Given the description of an element on the screen output the (x, y) to click on. 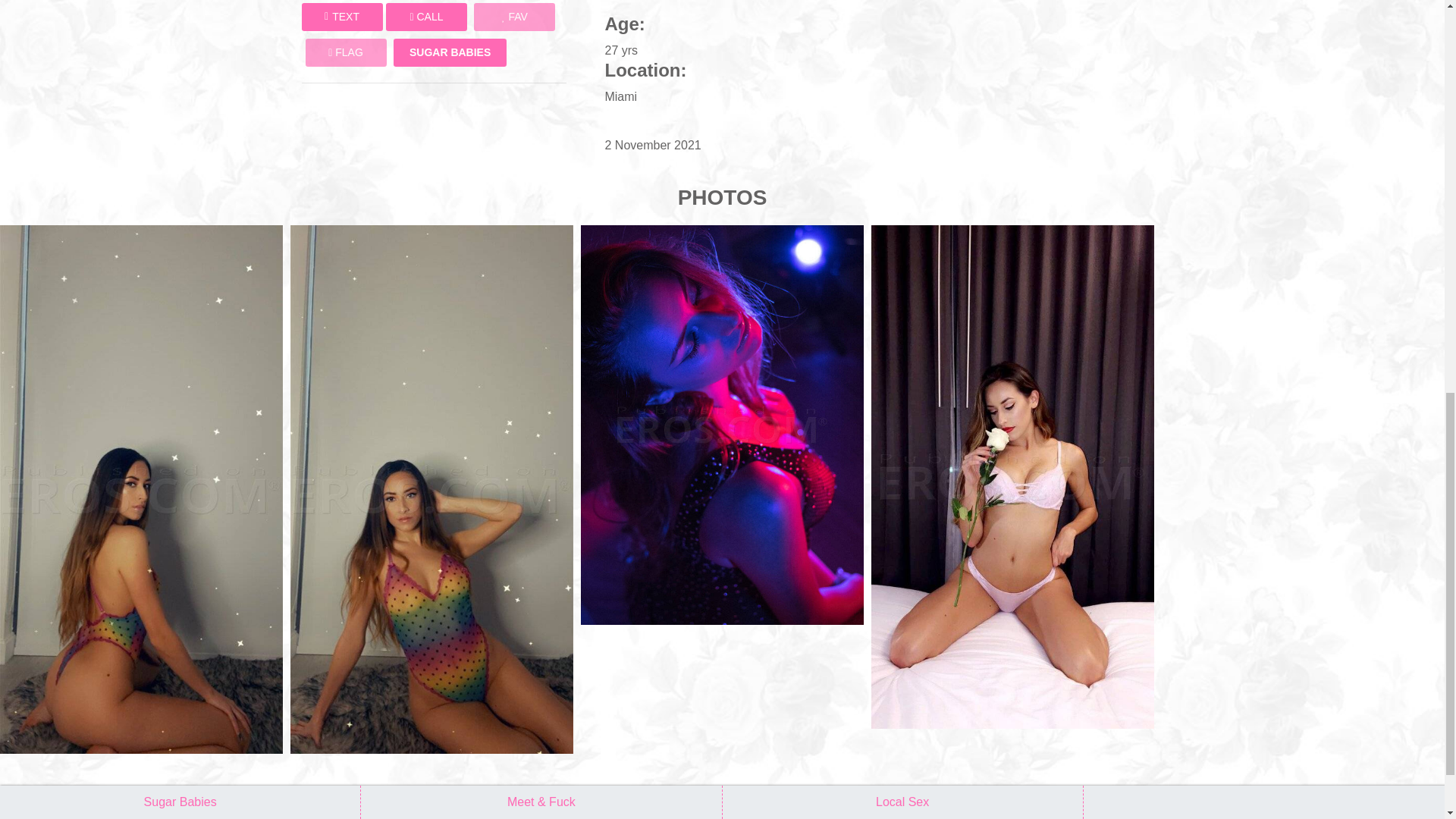
Miami Escorts (721, 424)
TEXT (341, 17)
FAV (514, 17)
CALL (426, 17)
SUGAR BABIES (449, 52)
FLAG (344, 52)
